Given the description of an element on the screen output the (x, y) to click on. 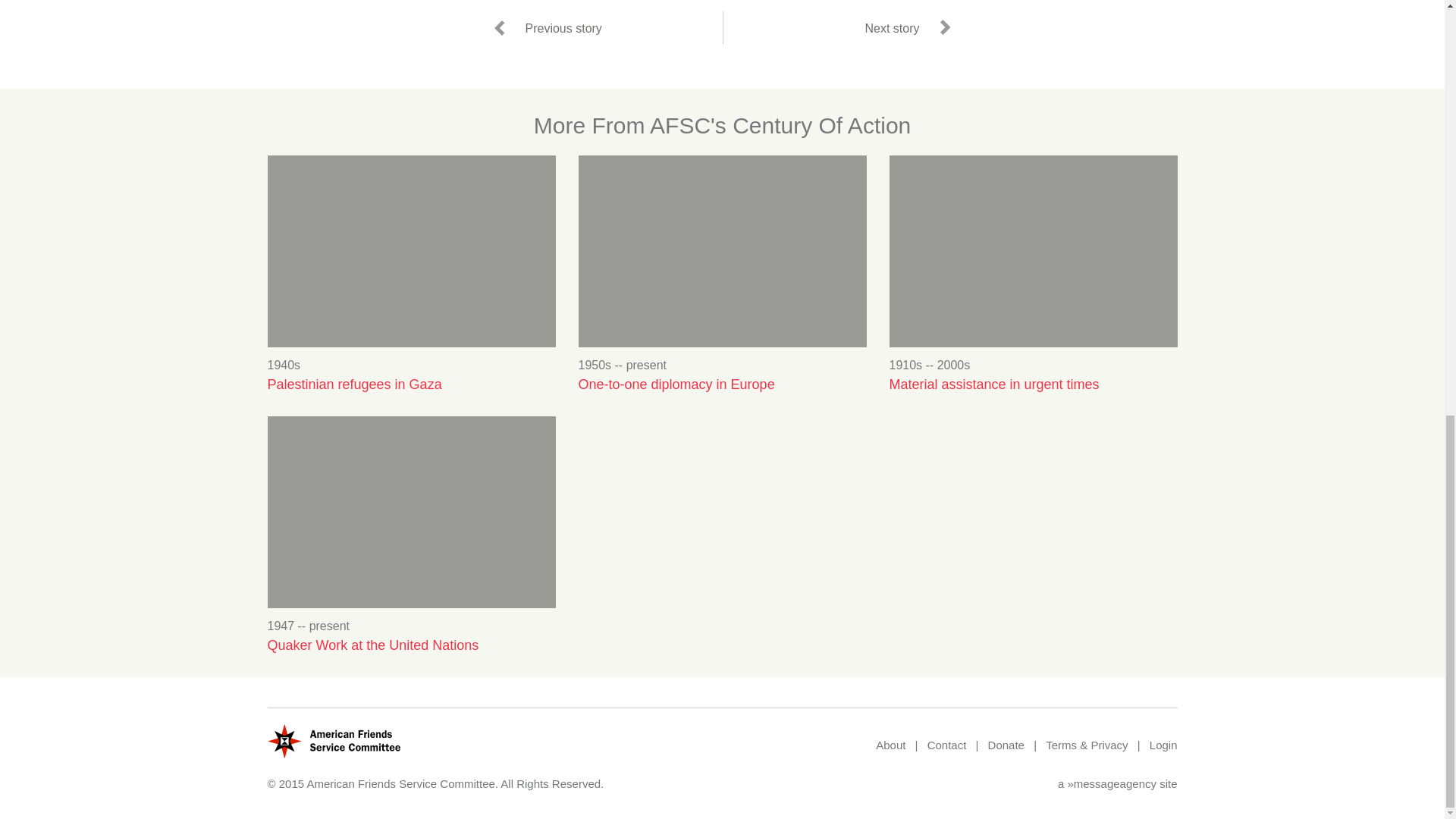
Previous story (549, 27)
Donate (1006, 744)
A full service Drupal agency (1111, 783)
About (890, 744)
Contact (946, 744)
Material assistance in urgent times (1032, 384)
Palestinian refugees in Gaza (410, 384)
Quaker Work at the United Nations (410, 645)
Next story (904, 27)
Login (1163, 744)
